Given the description of an element on the screen output the (x, y) to click on. 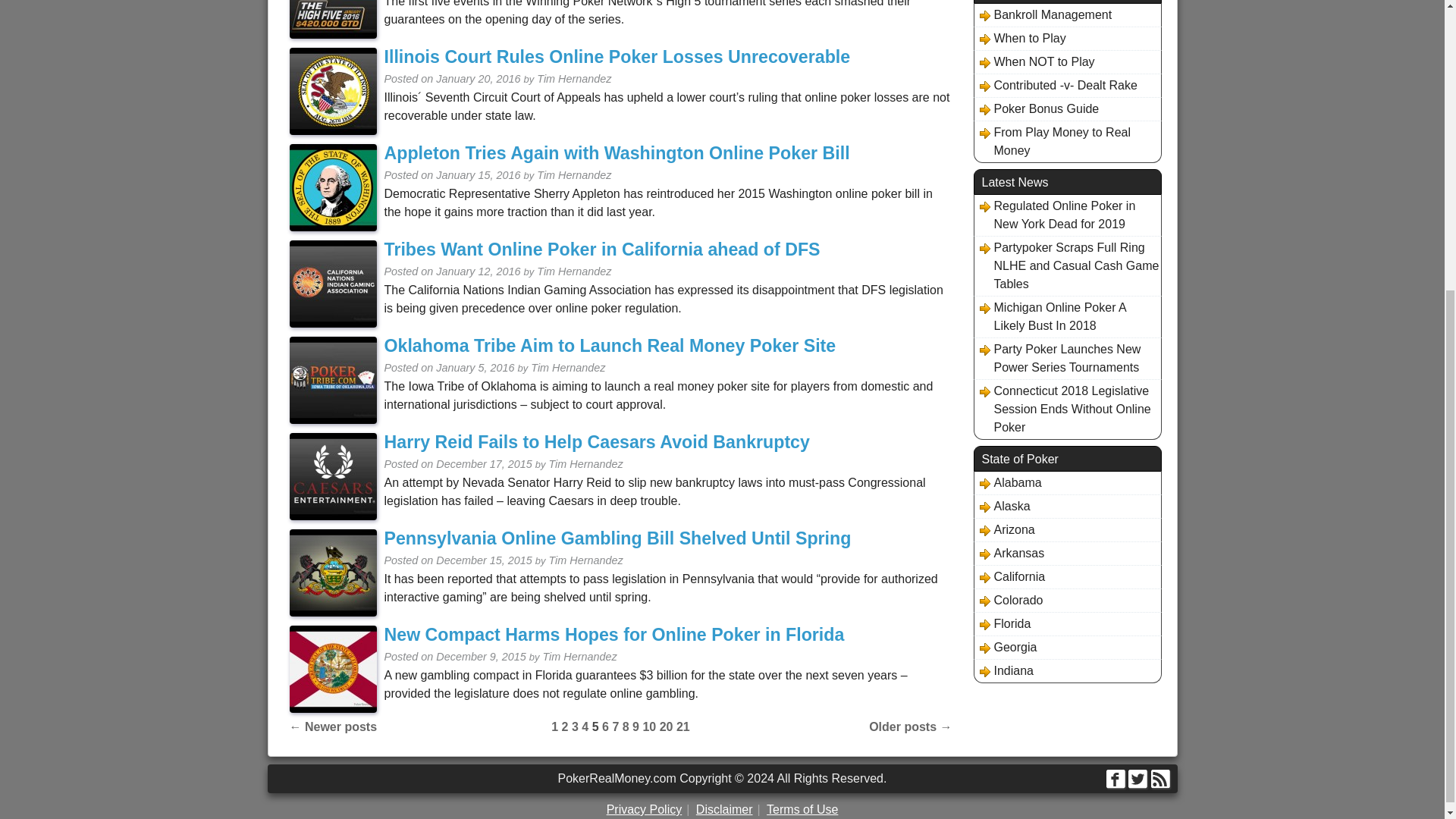
When to Play (1020, 38)
Indiana (1004, 670)
California (1010, 577)
Georgia (1006, 647)
Florida (1003, 624)
Contributed -v- Dealt Rake (1056, 85)
Alaska (1002, 506)
Regulated Online Poker in New York Dead for 2019 (1067, 215)
When NOT to Play Real Money Poker (1035, 62)
Alabama (1008, 483)
Arizona (1004, 529)
Michigan Online Poker A Likely Bust In 2018 (1067, 316)
Bankroll Management (1043, 14)
Arkansas (1009, 553)
